Given the description of an element on the screen output the (x, y) to click on. 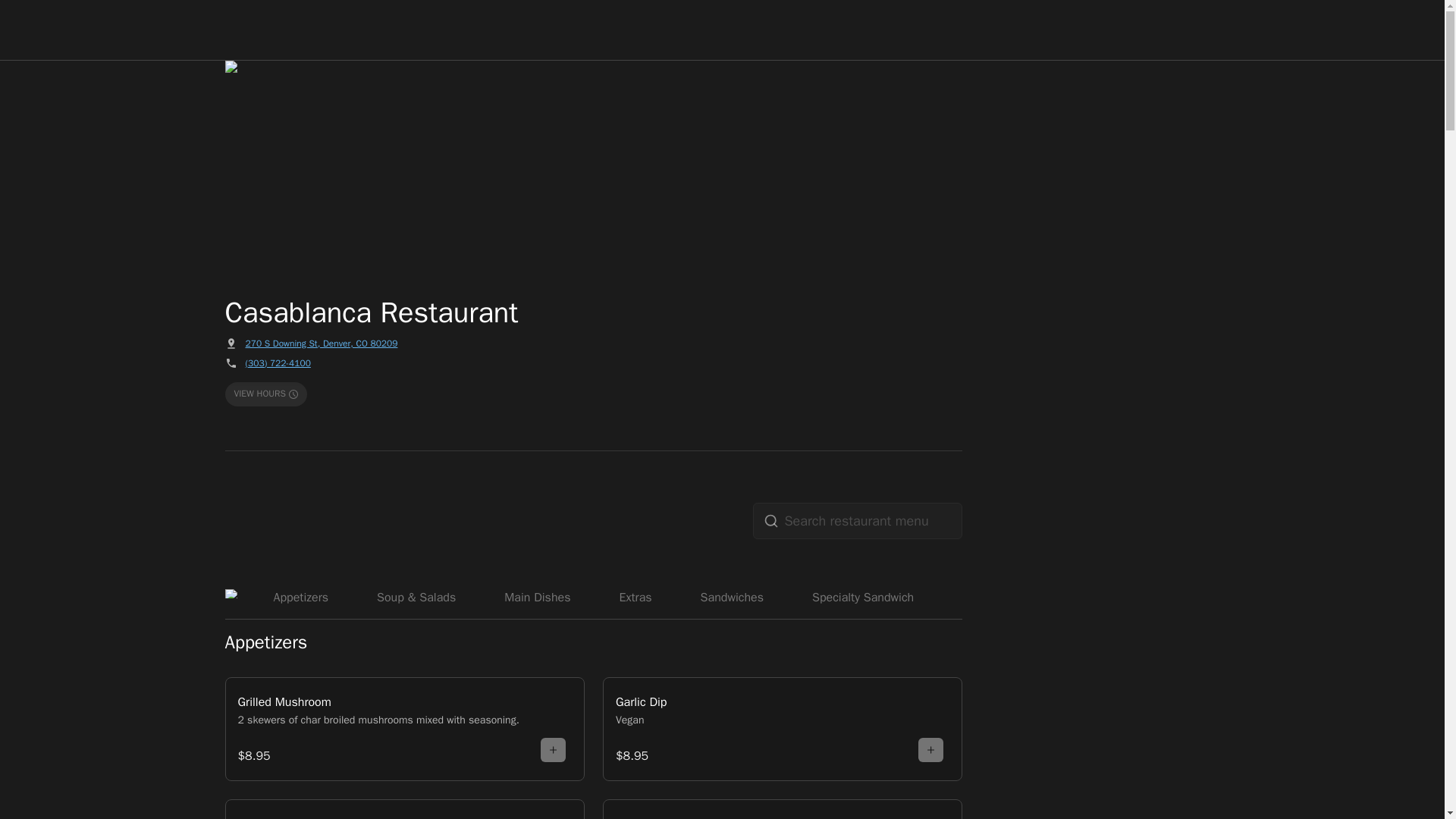
Dessert (1099, 594)
VIEW HOURS (266, 394)
Main Dishes (537, 594)
270 S Downing St, Denver, CO 80209 (321, 343)
Specialty Sandwiches (868, 594)
Appetizers (300, 594)
Beverages (1002, 594)
Sandwiches (732, 594)
Extras (634, 594)
